Given the description of an element on the screen output the (x, y) to click on. 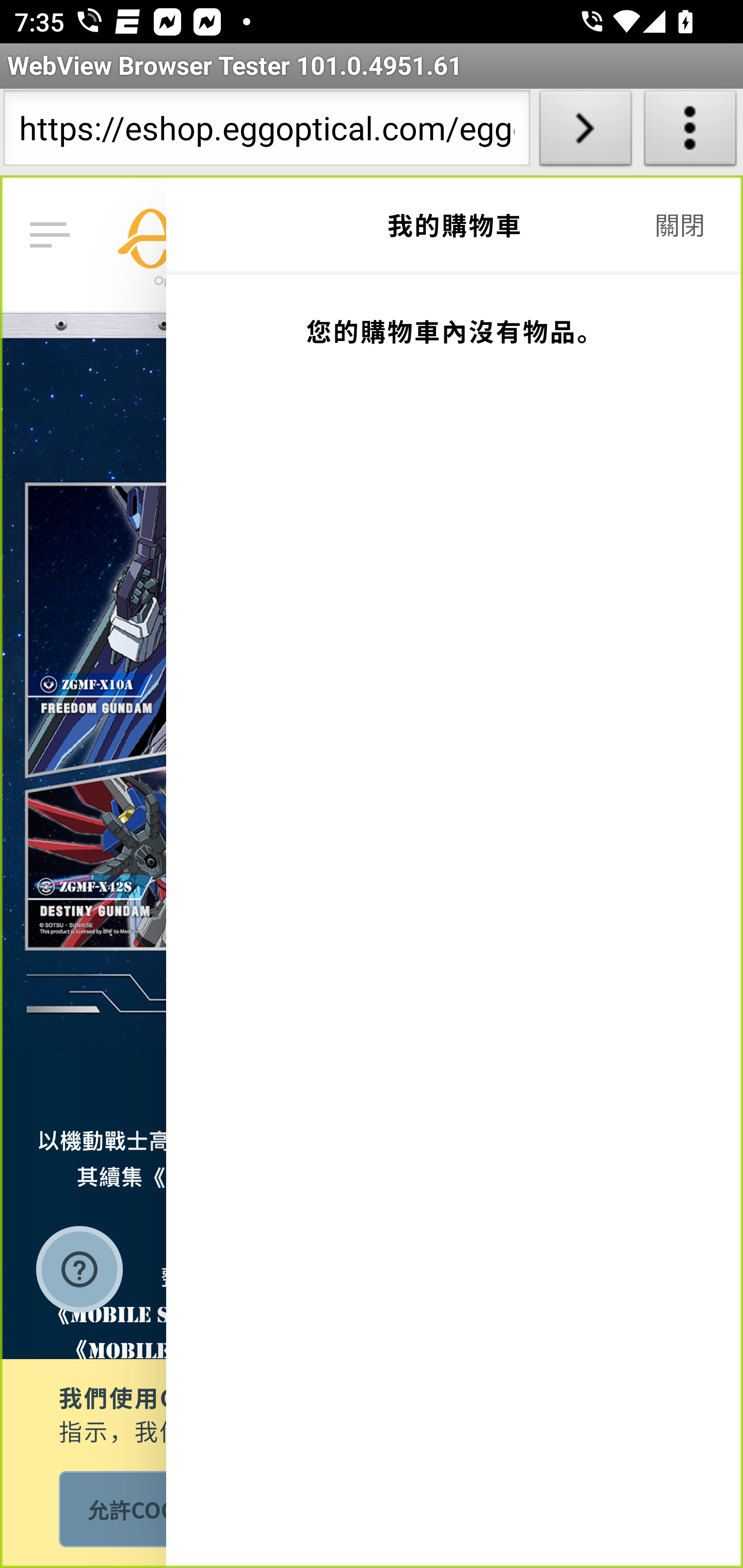
Load URL (585, 132)
About WebView (690, 132)
關閉 (677, 225)
切換導航 (54, 235)
Opens a widget where you can find more information (79, 1270)
